Given the description of an element on the screen output the (x, y) to click on. 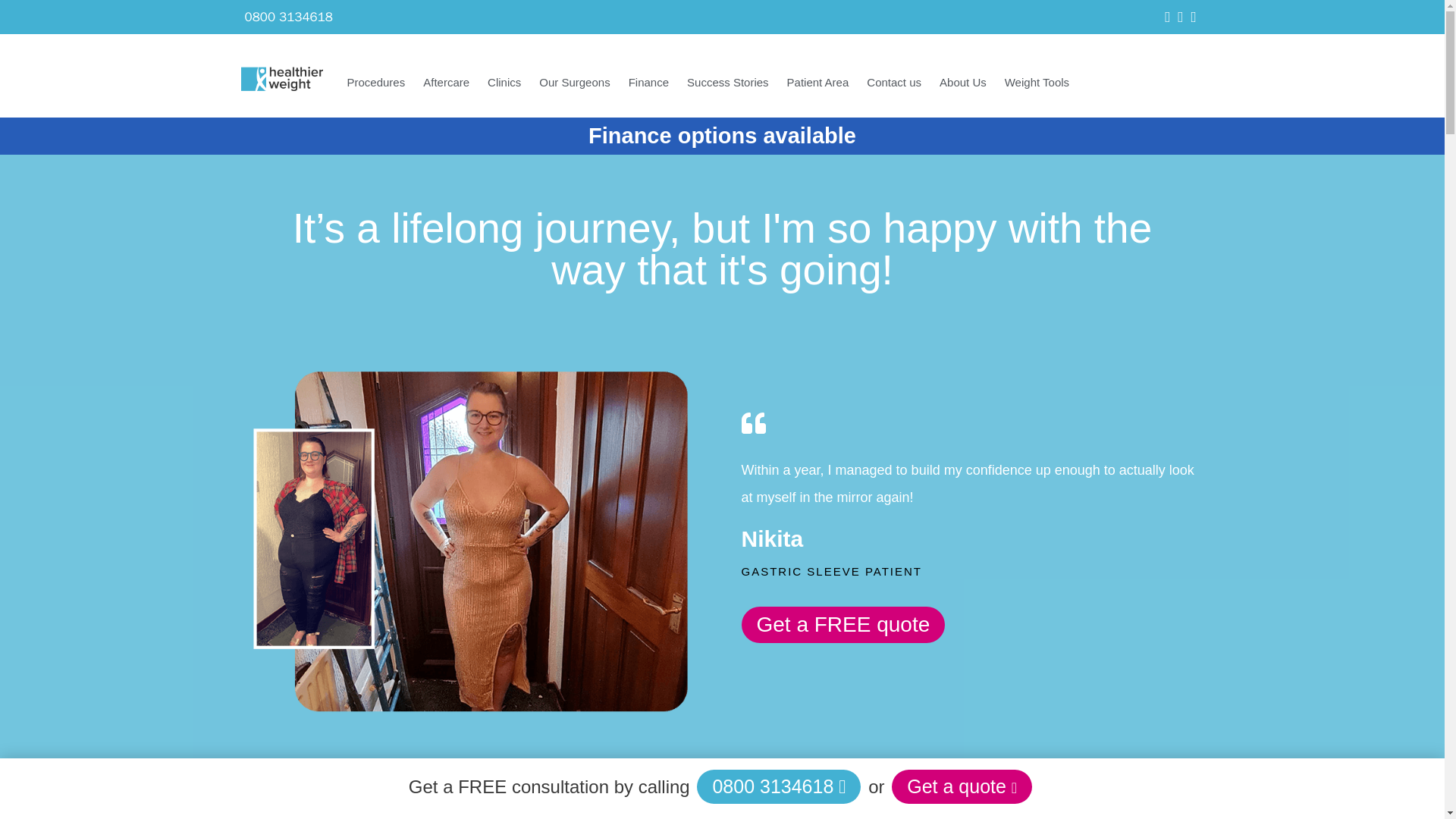
Procedures (375, 82)
Clinics (504, 82)
About Us (962, 82)
Contact us (893, 82)
Weight Tools (1036, 82)
Our Surgeons (573, 82)
Success Stories (727, 82)
0800 3134618 (287, 17)
Finance (649, 82)
Aftercare (446, 82)
